Given the description of an element on the screen output the (x, y) to click on. 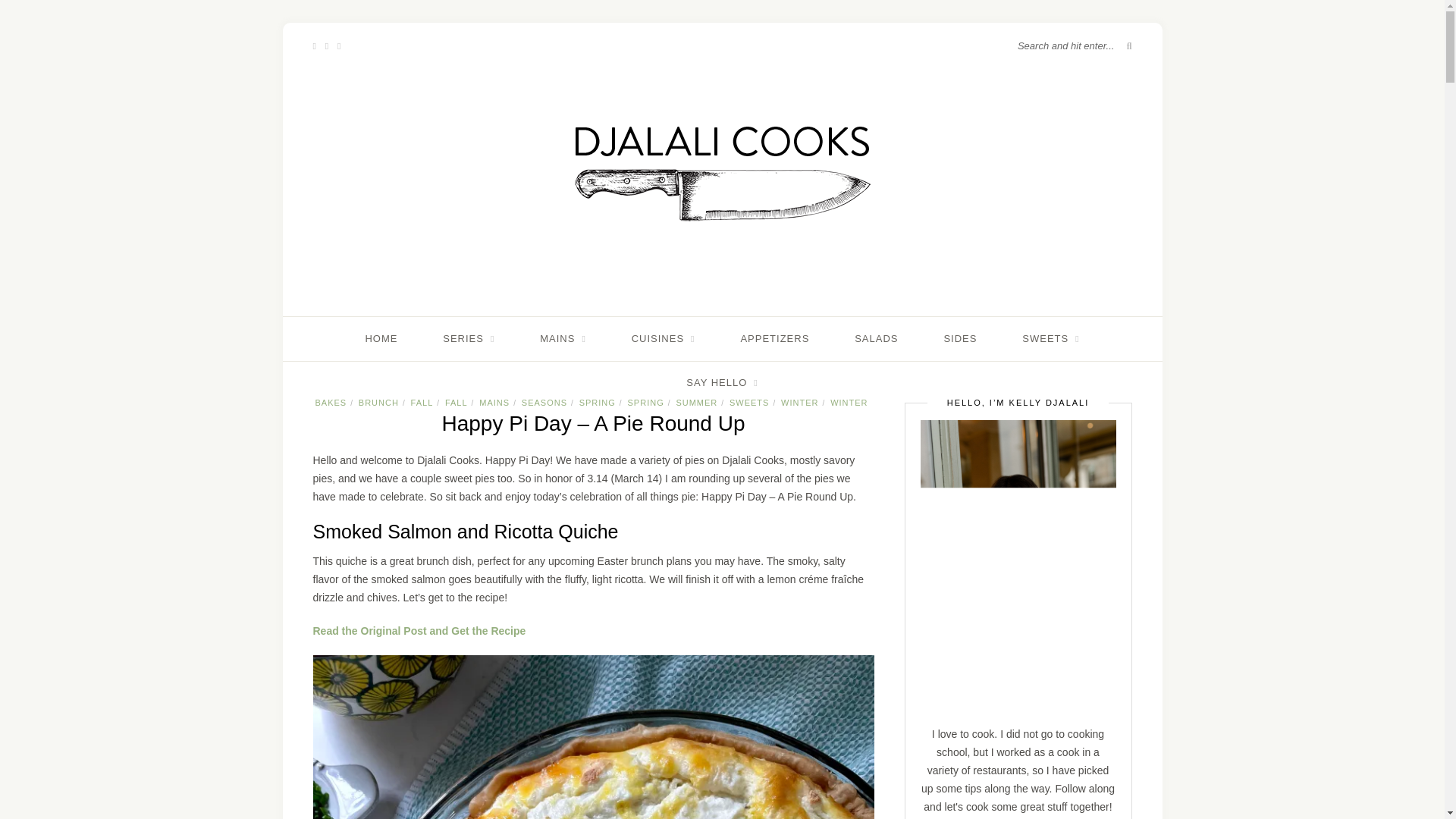
SERIES (468, 338)
CUISINES (663, 338)
SAY HELLO (721, 382)
SALADS (876, 338)
SWEETS (1050, 338)
MAINS (563, 338)
APPETIZERS (774, 338)
